Given the description of an element on the screen output the (x, y) to click on. 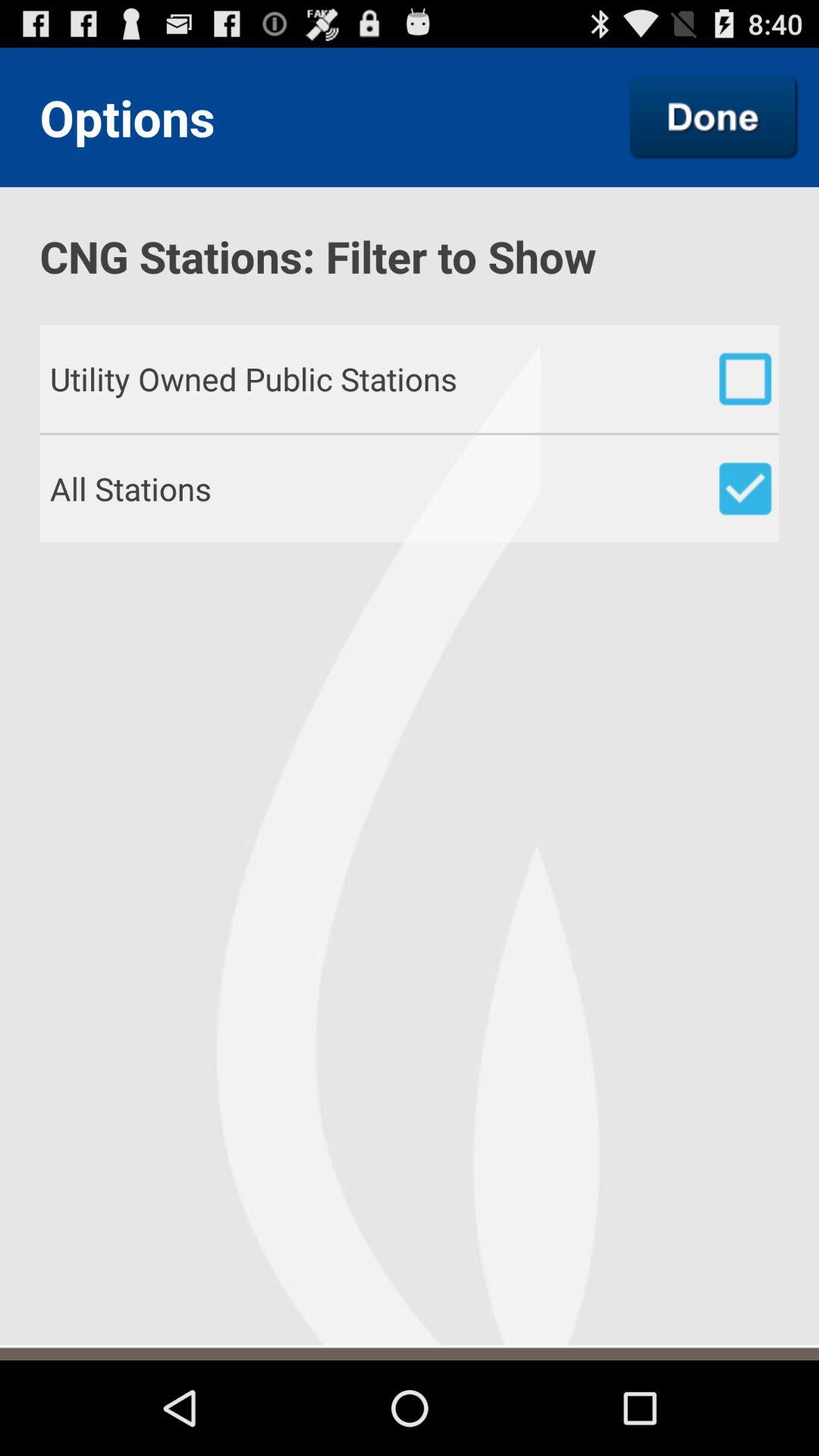
turn off the item below cng stations filter item (409, 335)
